Given the description of an element on the screen output the (x, y) to click on. 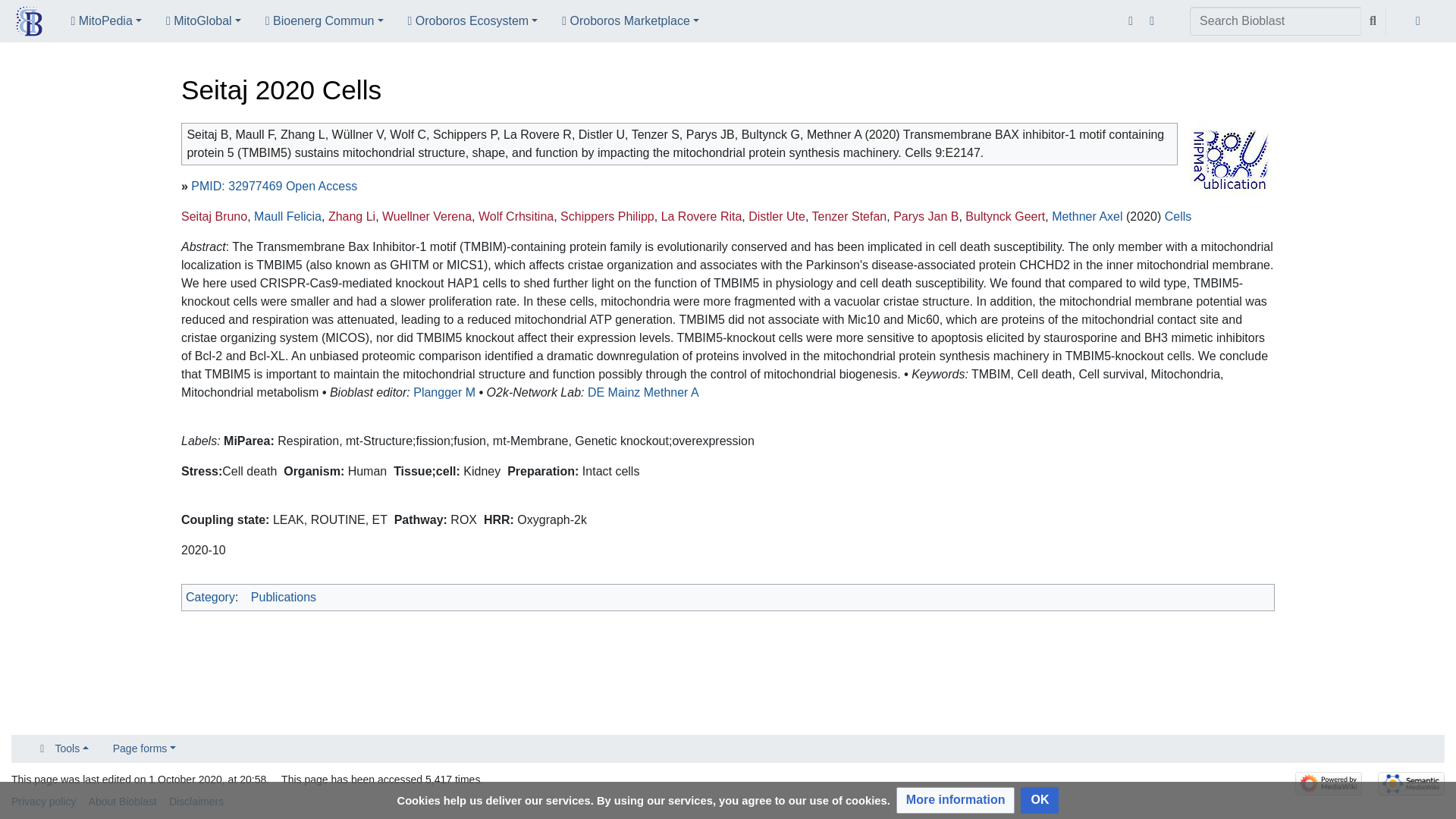
Maull Felicia (287, 215)
Visit the main page (28, 22)
Go to a page with this exact name if it exists (1372, 21)
Go (1372, 21)
Publications in the MiPMap (1229, 157)
